Given the description of an element on the screen output the (x, y) to click on. 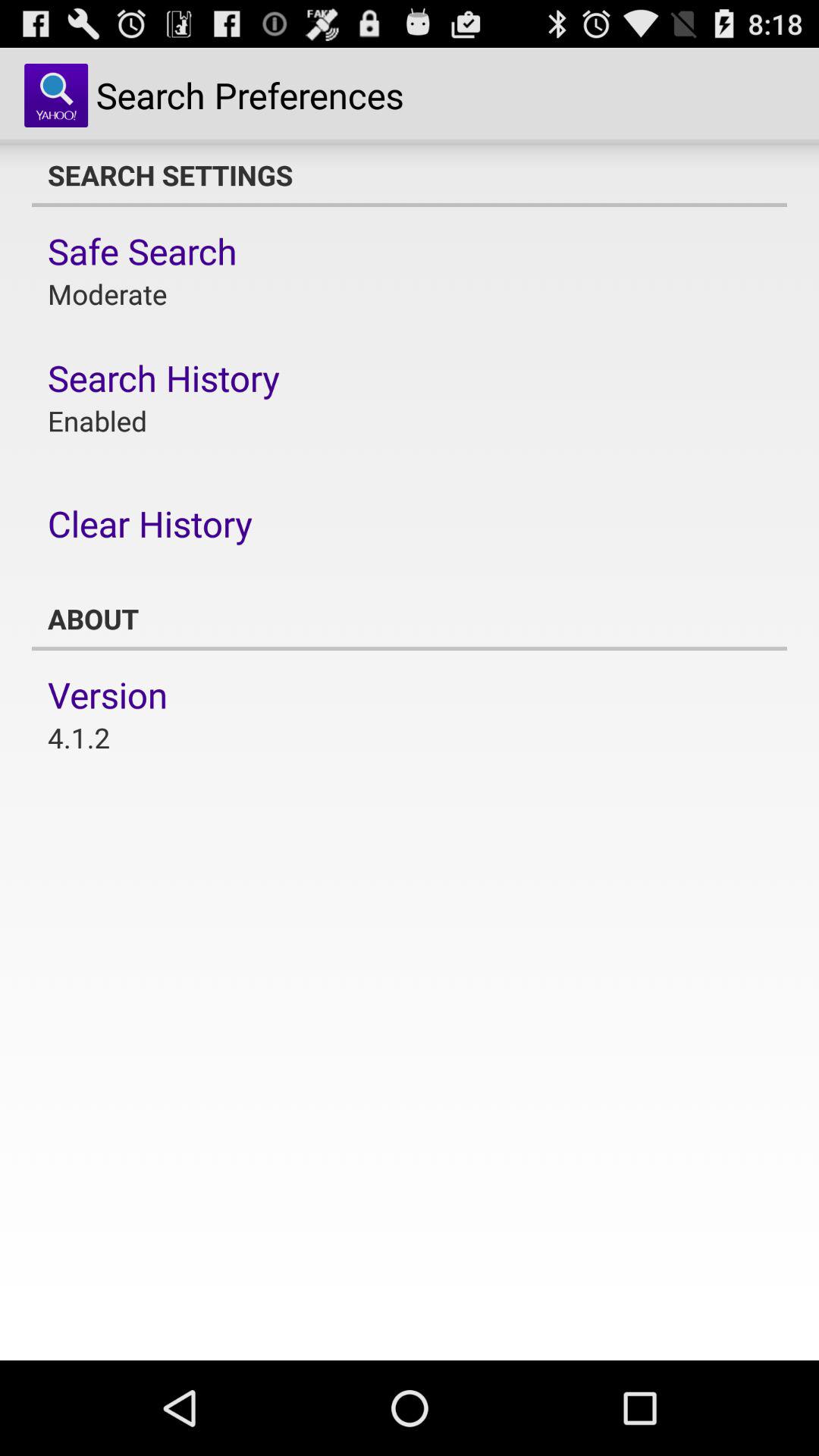
click the item below search settings app (142, 250)
